Given the description of an element on the screen output the (x, y) to click on. 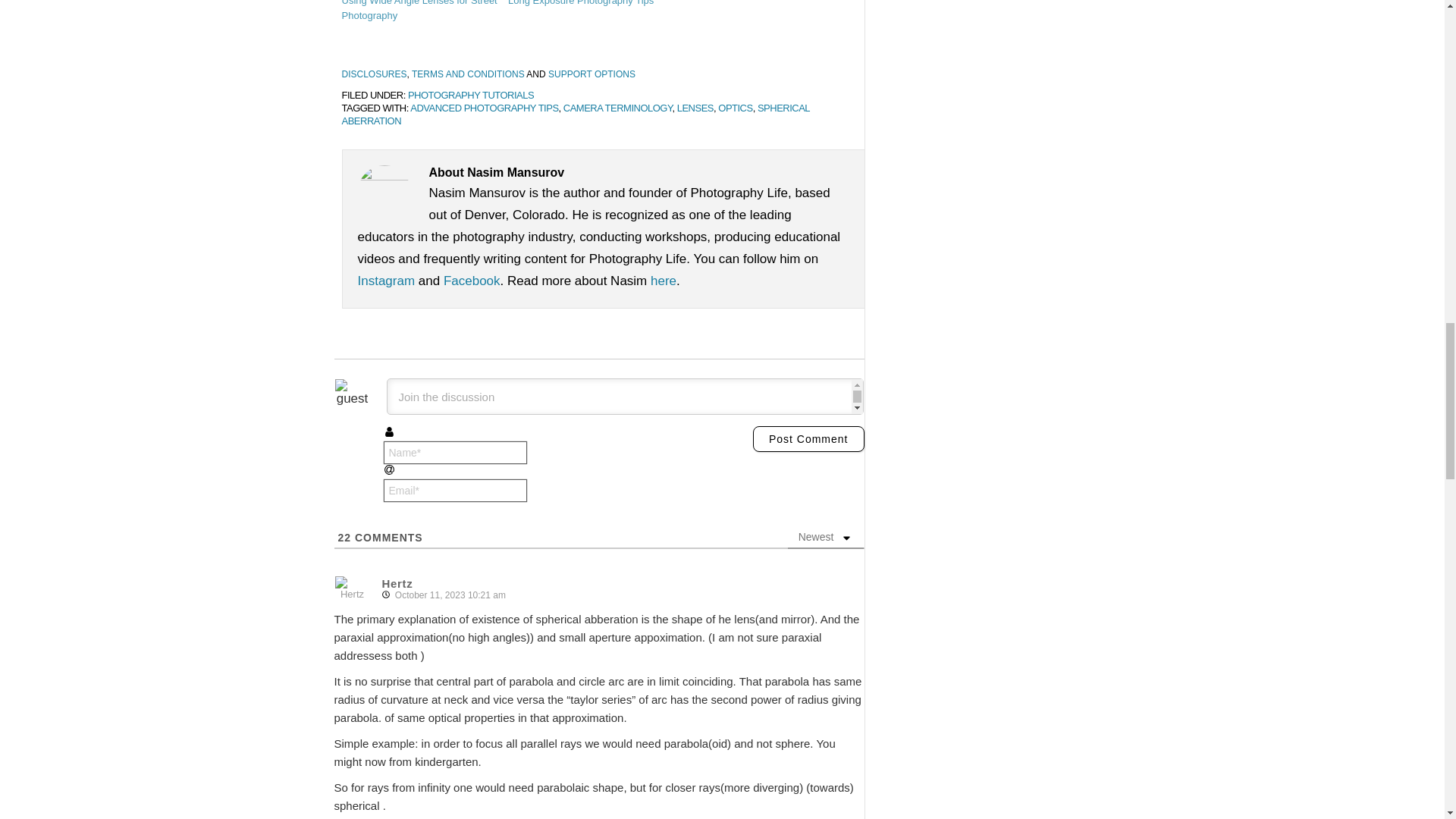
Post Comment (808, 438)
CAMERA TERMINOLOGY (617, 107)
DISCLOSURES (373, 73)
Using Wide Angle Lenses for Street Photography (418, 10)
TERMS AND CONDITIONS (468, 73)
22 (344, 537)
ADVANCED PHOTOGRAPHY TIPS (483, 107)
PHOTOGRAPHY TUTORIALS (470, 94)
SUPPORT OPTIONS (591, 73)
October 11, 2023 10:21 am (447, 594)
Long Exposure Photography Tips (580, 2)
